Given the description of an element on the screen output the (x, y) to click on. 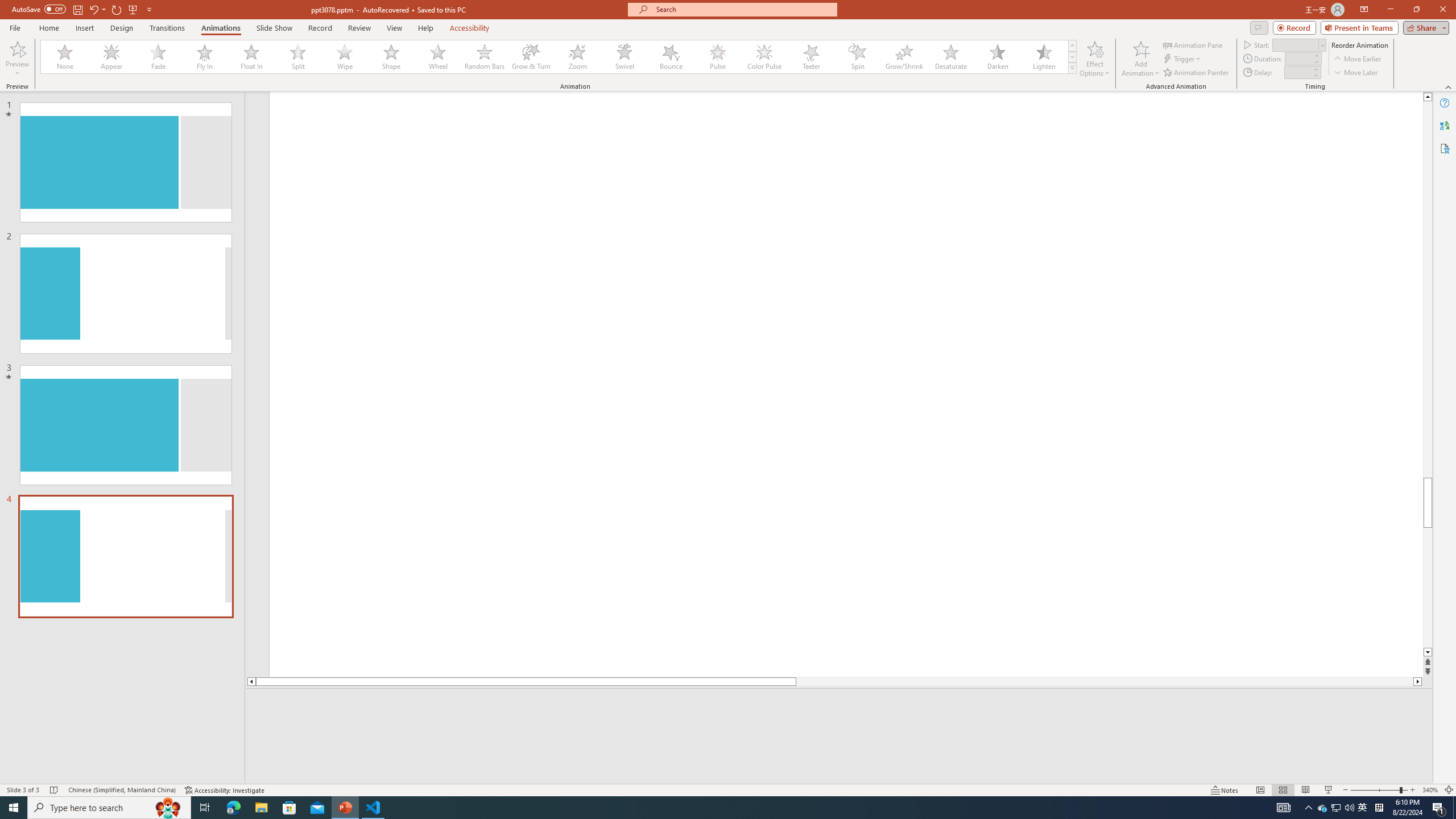
Darken (997, 56)
Animation Styles (1071, 67)
Spin (857, 56)
Grow/Shrink (903, 56)
